Given the description of an element on the screen output the (x, y) to click on. 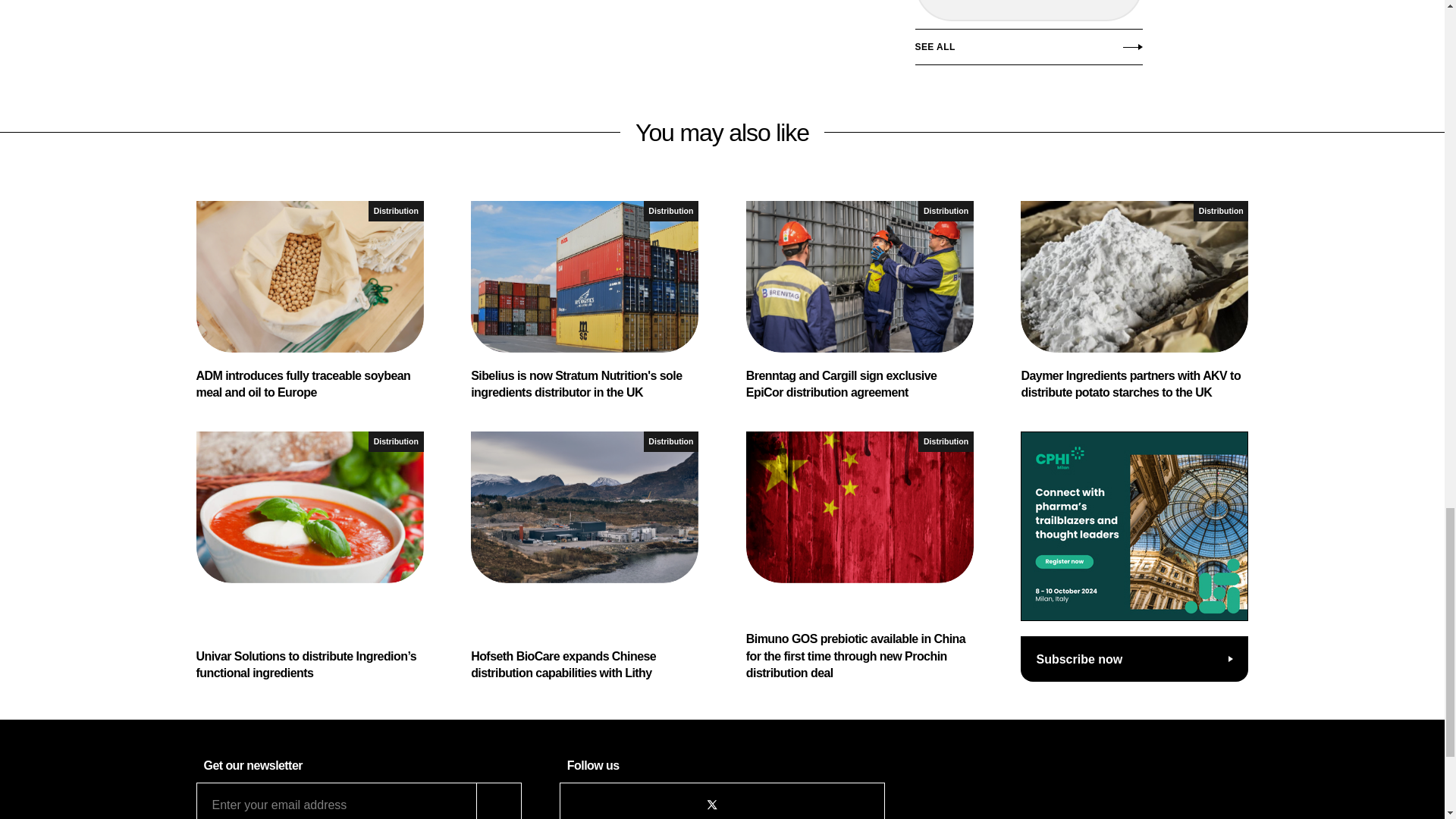
Follow Nutraceutical Business Review on X (711, 804)
SEE ALL (1027, 50)
Distribution (395, 210)
Distribution (670, 210)
